Given the description of an element on the screen output the (x, y) to click on. 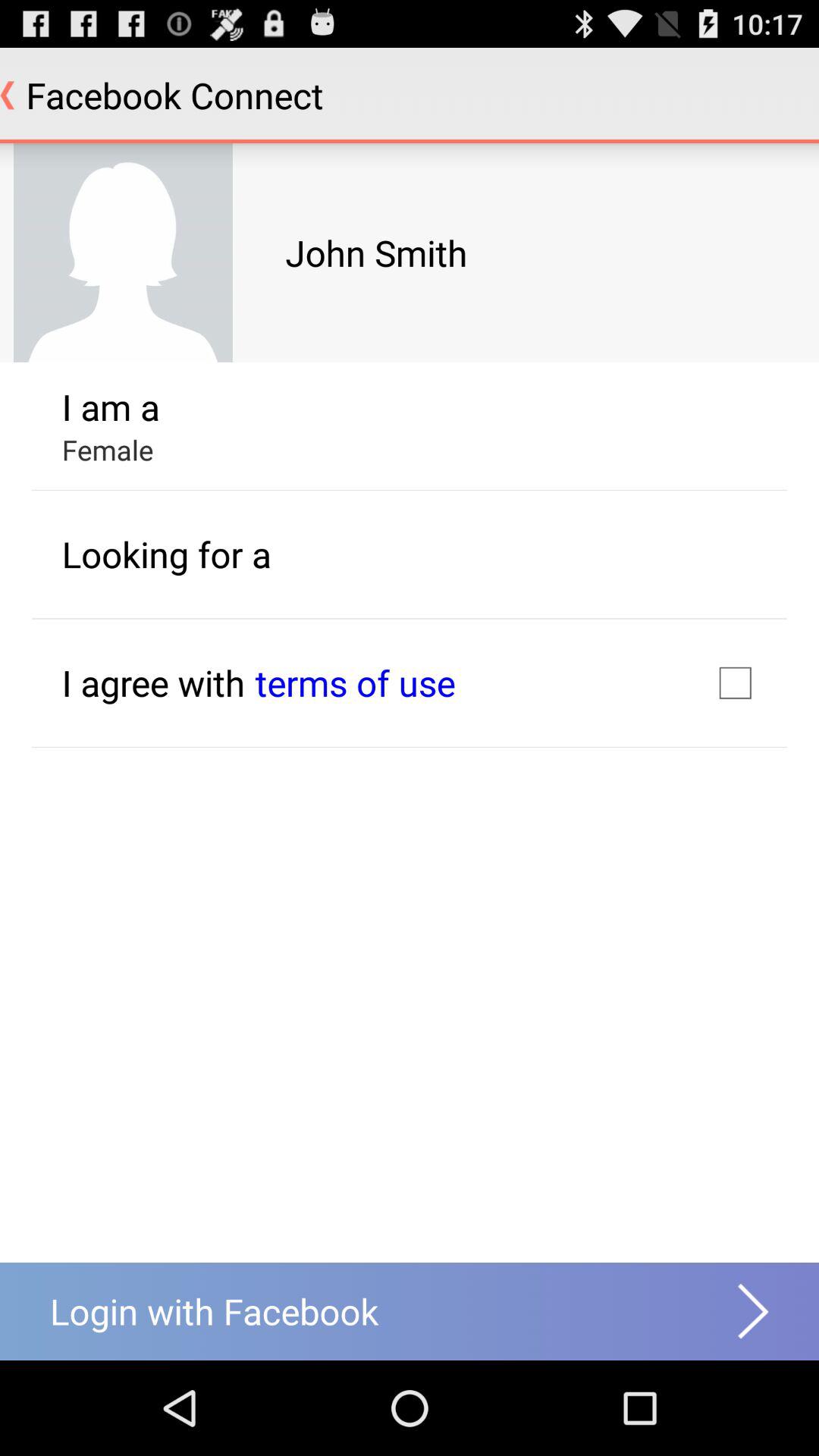
launch the app below the i am a app (107, 449)
